Given the description of an element on the screen output the (x, y) to click on. 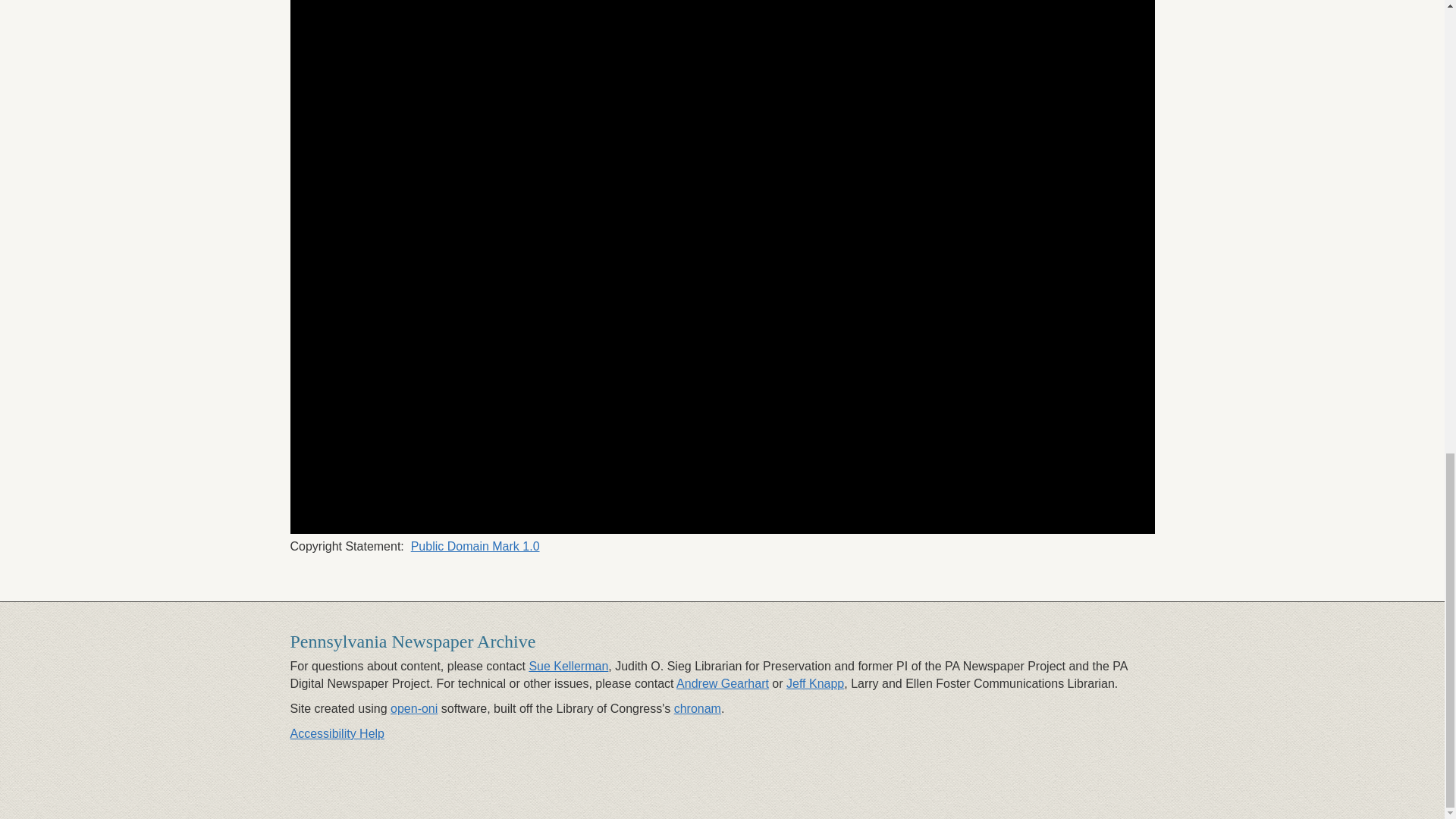
Accessibility Help (336, 733)
open-oni (414, 707)
Andrew Gearhart (722, 683)
Public Domain Mark 1.0 (475, 545)
Sue Kellerman (568, 666)
Jeff Knapp (815, 683)
chronam (697, 707)
